Given the description of an element on the screen output the (x, y) to click on. 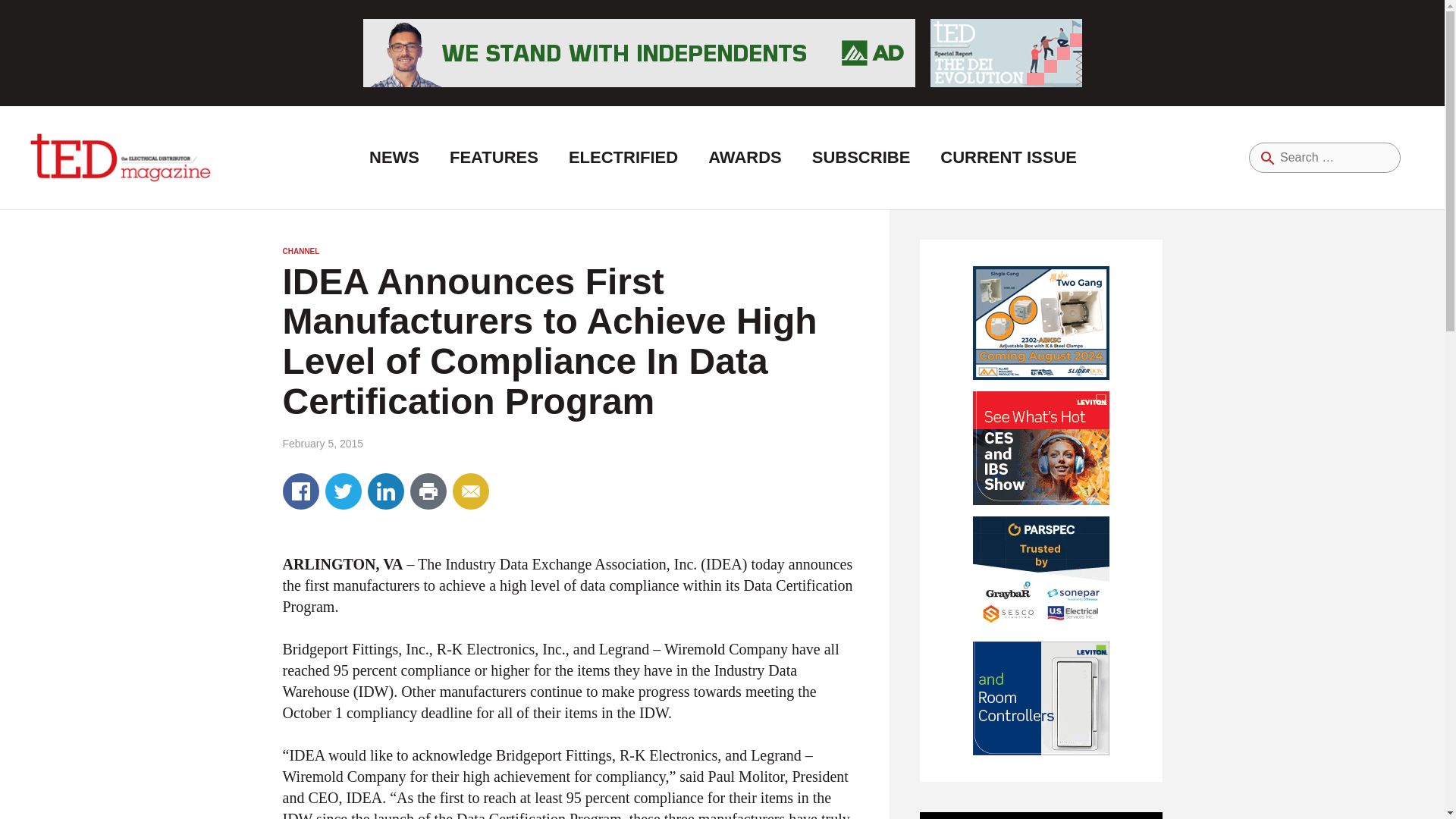
ELECTRIFIED (622, 157)
NEWS (394, 157)
AWARDS (745, 157)
Search for: (1324, 157)
FEATURES (493, 157)
SUBSCRIBE (861, 157)
February 5, 2015 (322, 443)
CURRENT ISSUE (1008, 157)
